Given the description of an element on the screen output the (x, y) to click on. 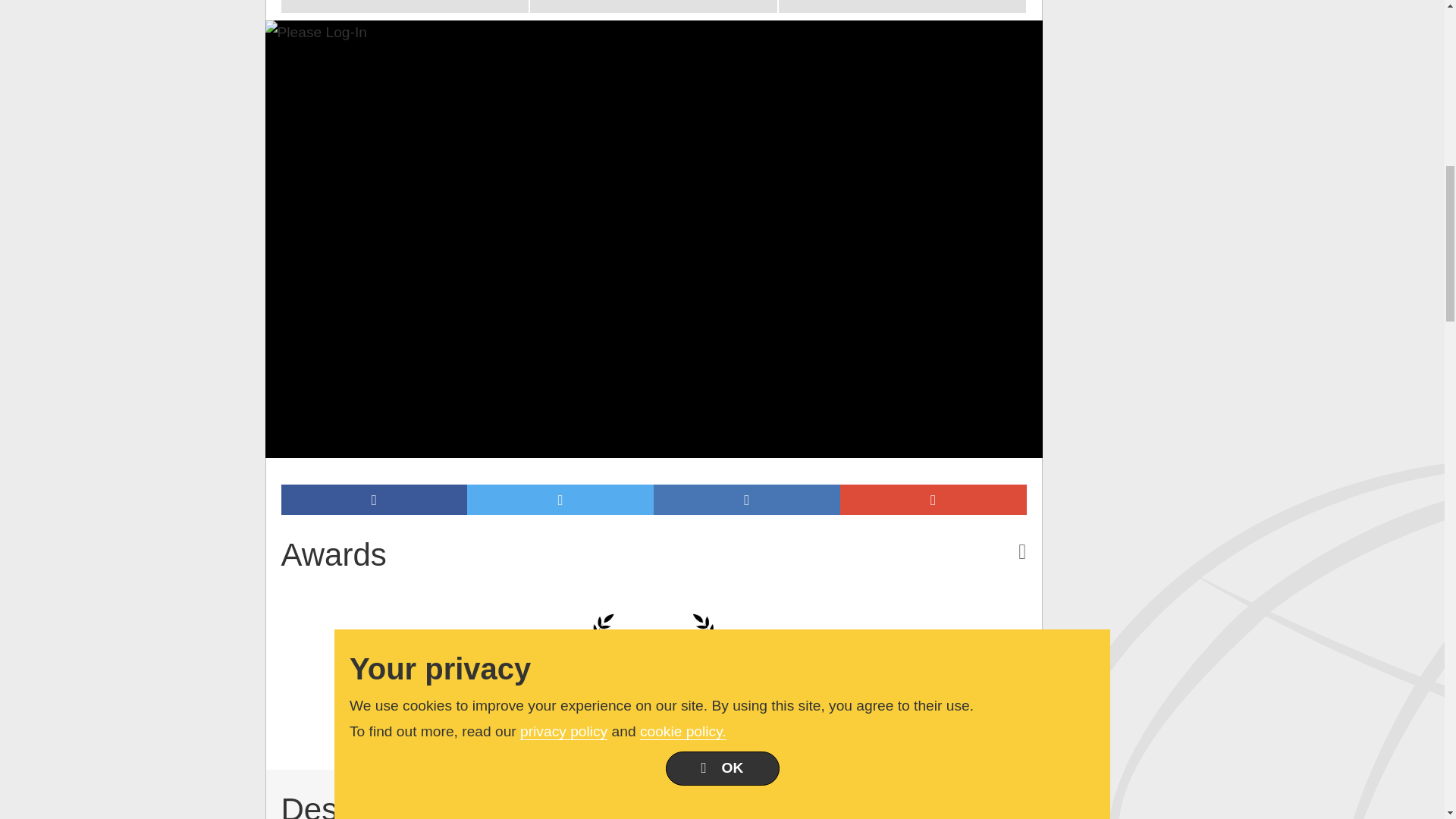
Full preview (902, 6)
Fisheye trailer (653, 6)
Flat trailer (404, 6)
